Given the description of an element on the screen output the (x, y) to click on. 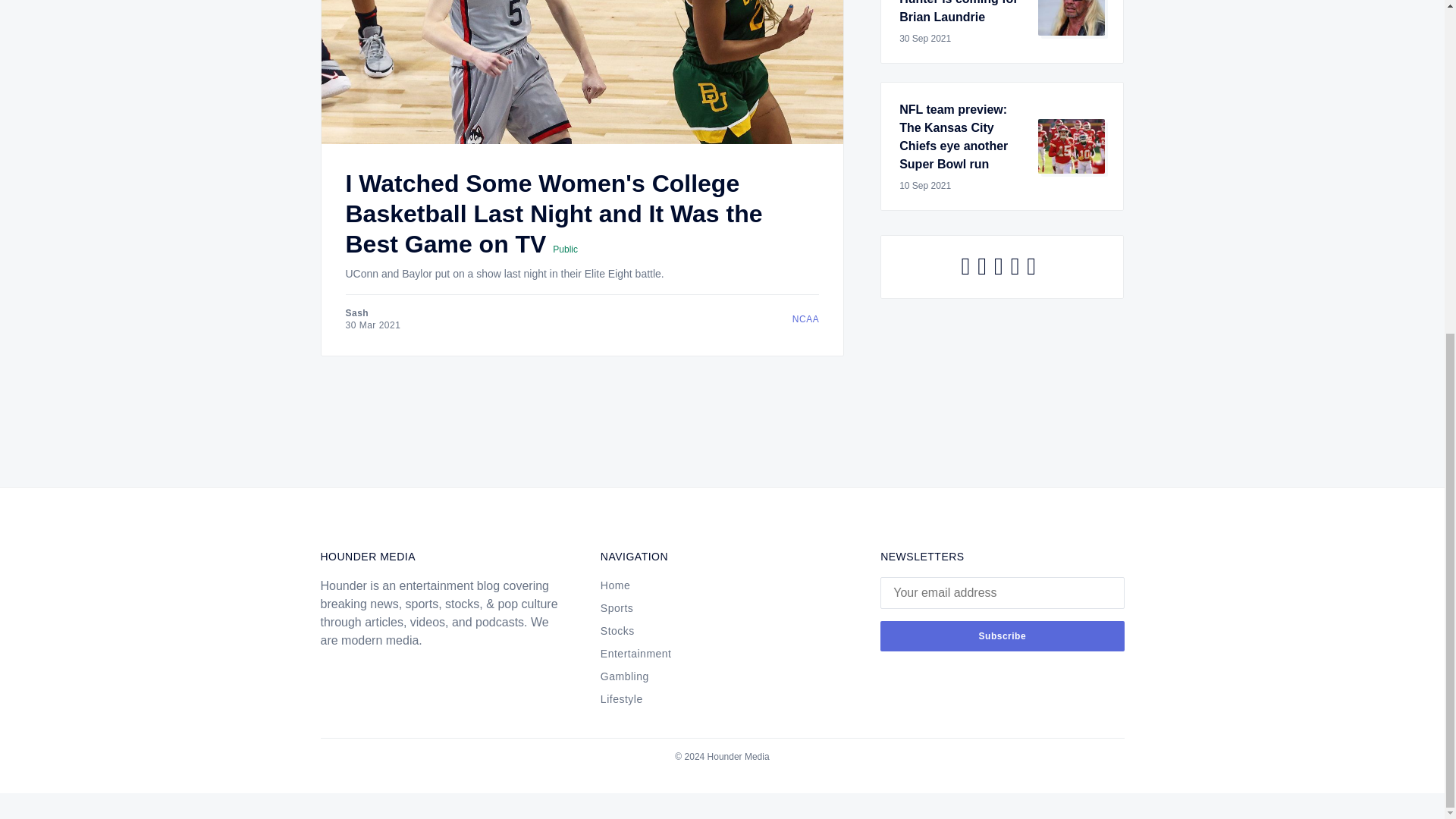
Subscribe (1002, 635)
Gambling (712, 677)
30 September 2021 (962, 38)
Sports (712, 609)
30 March 2021 (373, 325)
Lifestyle (721, 700)
Home (712, 587)
10 September 2021 (962, 185)
Entertainment (712, 655)
Stocks (712, 632)
NCAA (373, 319)
